Given the description of an element on the screen output the (x, y) to click on. 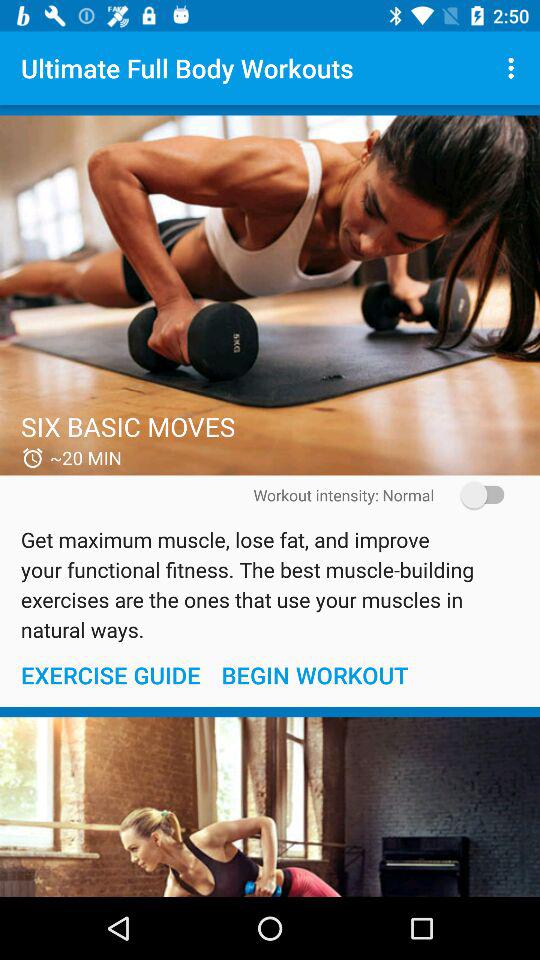
turn off item to the right of exercise guide item (314, 674)
